Given the description of an element on the screen output the (x, y) to click on. 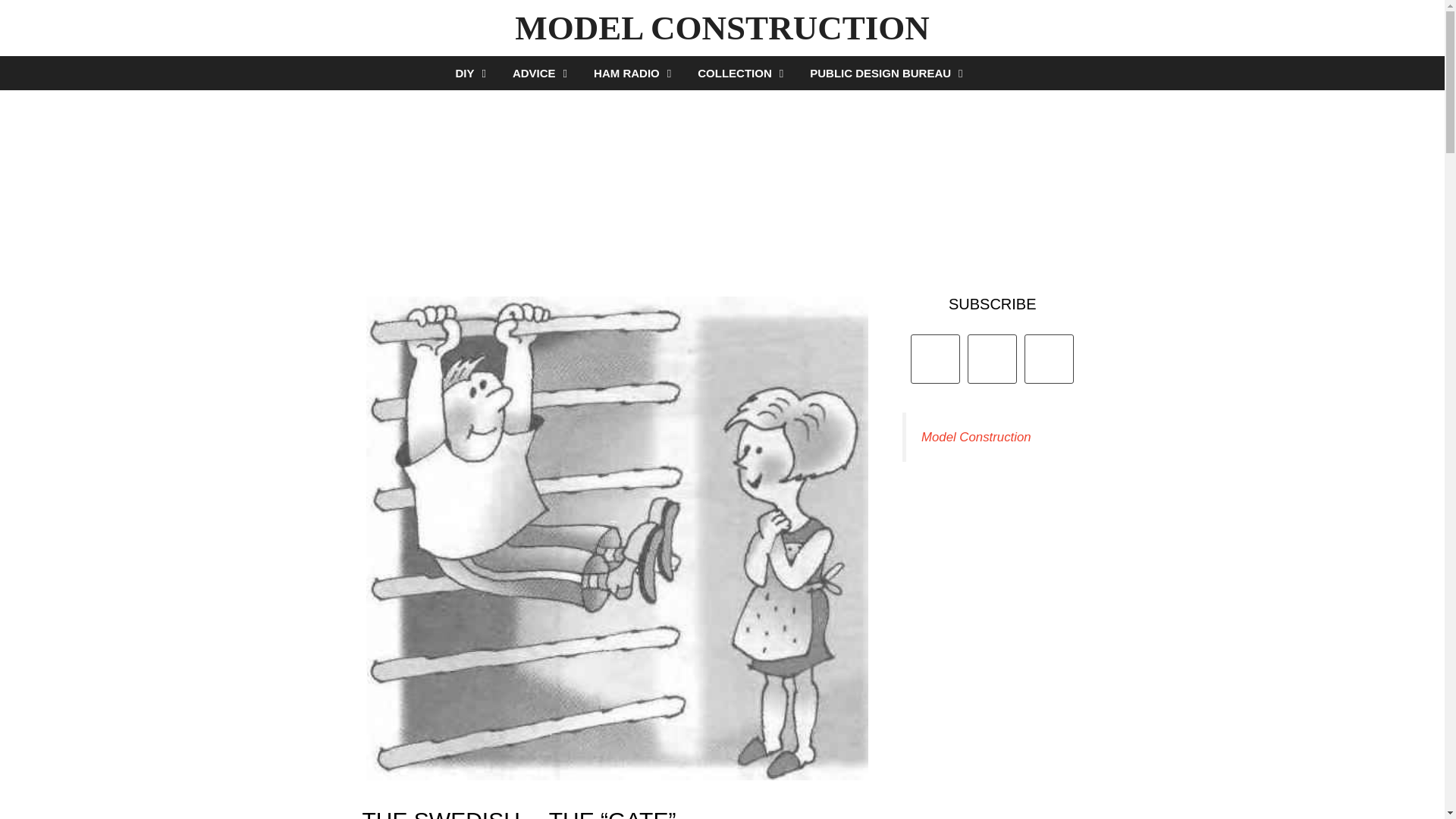
Model Construction (975, 436)
HAM RADIO (633, 73)
PUBLIC DESIGN BUREAU (886, 73)
COLLECTION (741, 73)
ADVICE (541, 73)
MODEL CONSTRUCTION (721, 27)
DIY (472, 73)
